Given the description of an element on the screen output the (x, y) to click on. 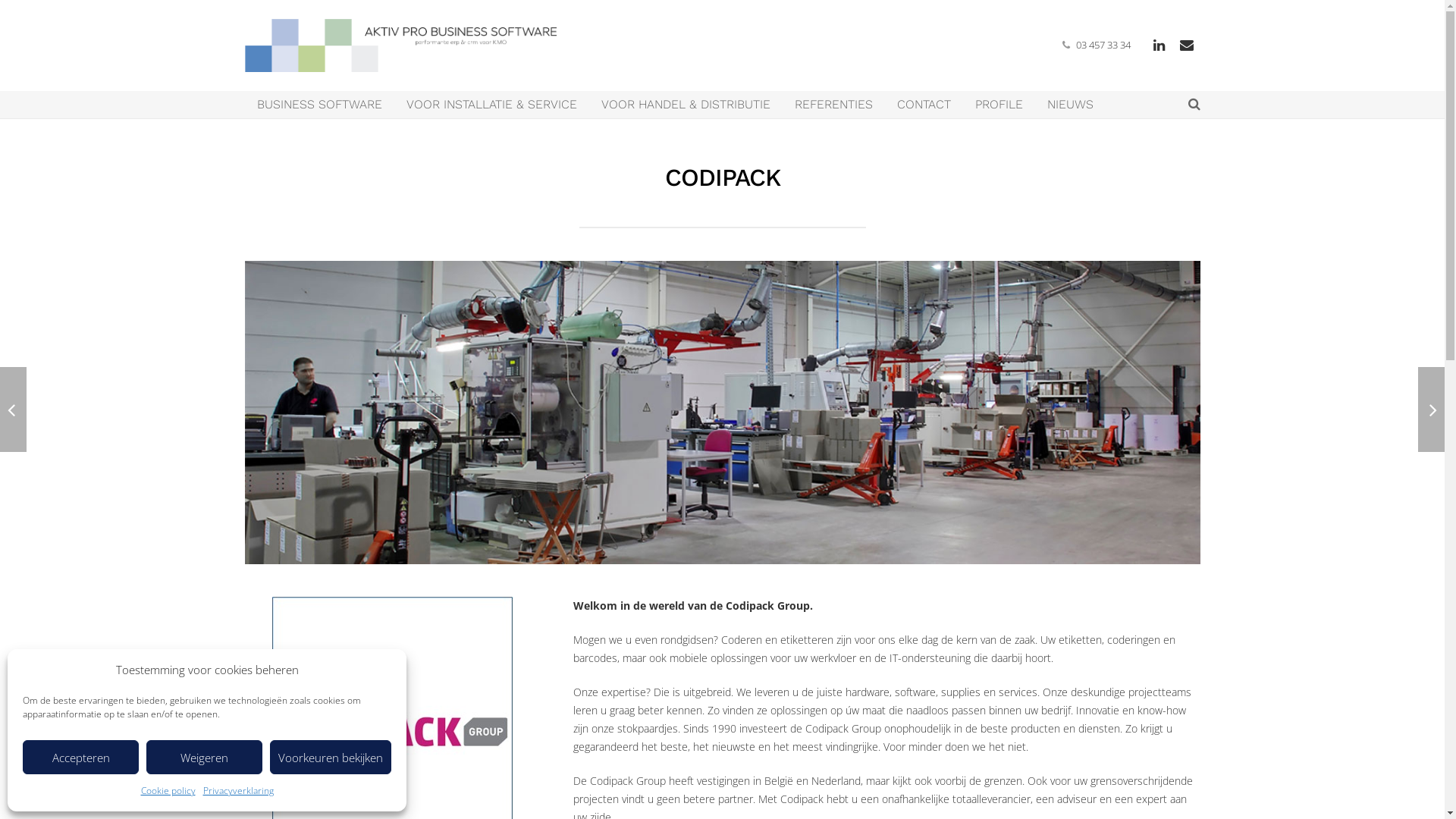
VOOR HANDEL & DISTRIBUTIE Element type: text (684, 104)
REFERENTIES Element type: text (833, 104)
NIEUWS Element type: text (1069, 104)
Privacyverklaring Element type: text (238, 790)
PROFILE Element type: text (999, 104)
BUSINESS SOFTWARE Element type: text (318, 104)
Cookie policy Element type: text (168, 790)
Weigeren Element type: text (204, 757)
VOOR INSTALLATIE & SERVICE Element type: text (491, 104)
CONTACT Element type: text (923, 104)
Accepteren Element type: text (80, 757)
Voorkeuren bekijken Element type: text (330, 757)
